Given the description of an element on the screen output the (x, y) to click on. 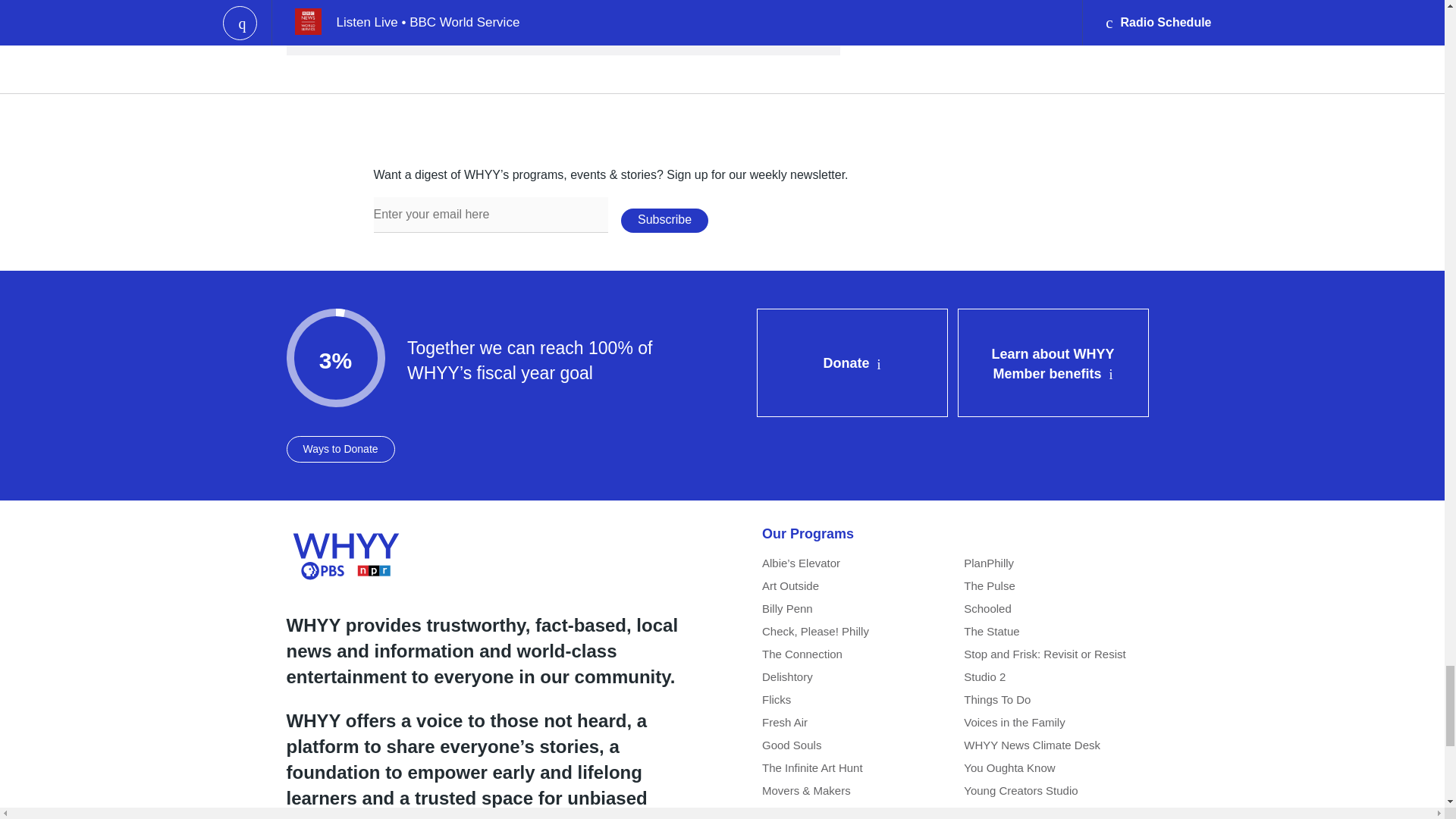
Subscribe (664, 220)
